Given the description of an element on the screen output the (x, y) to click on. 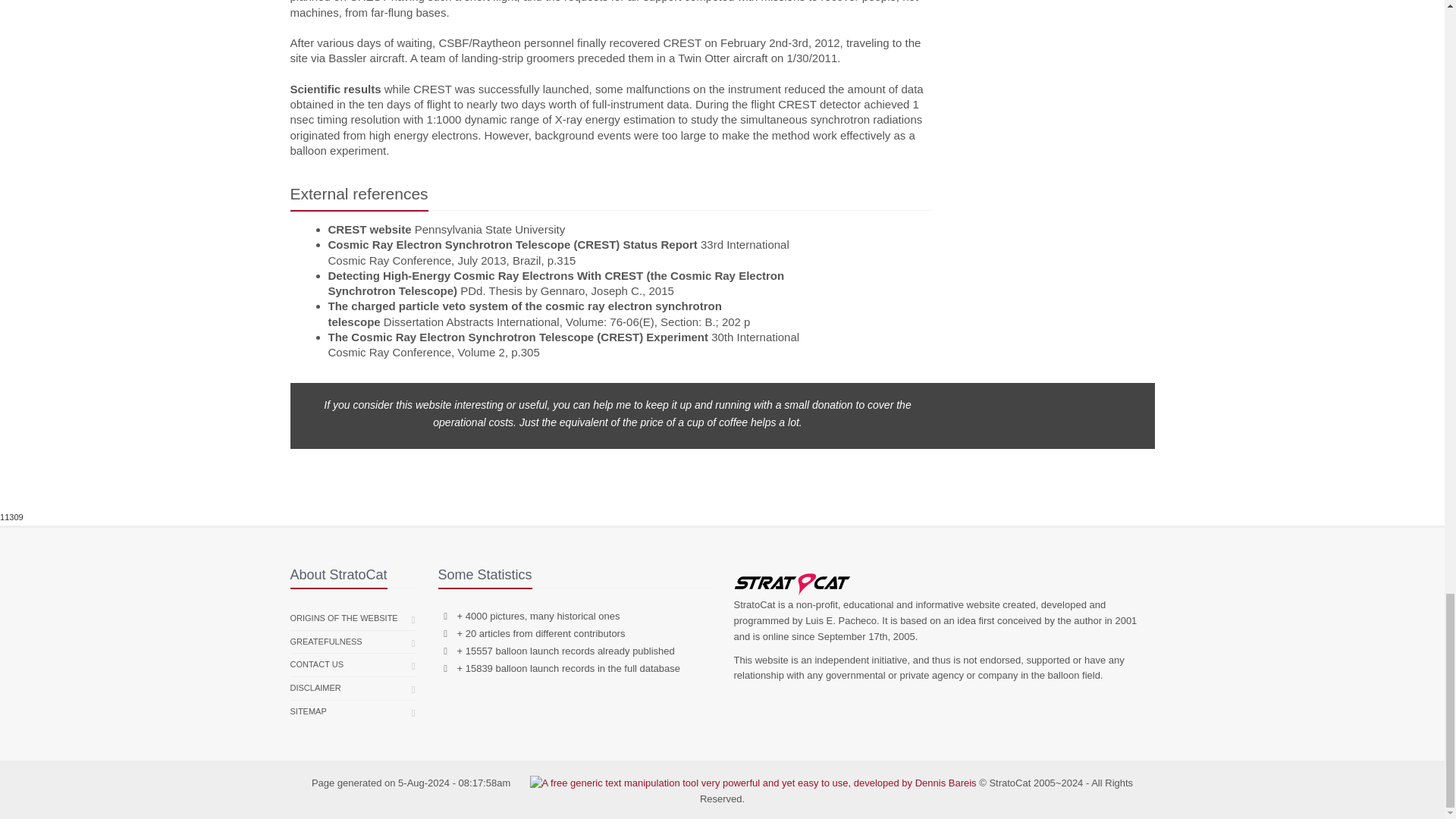
CONTACT US (316, 664)
DISCLAIMER (314, 688)
CREST website (368, 228)
SITEMAP (307, 712)
ORIGINS OF THE WEBSITE (343, 618)
GREATEFULNESS (325, 641)
